Given the description of an element on the screen output the (x, y) to click on. 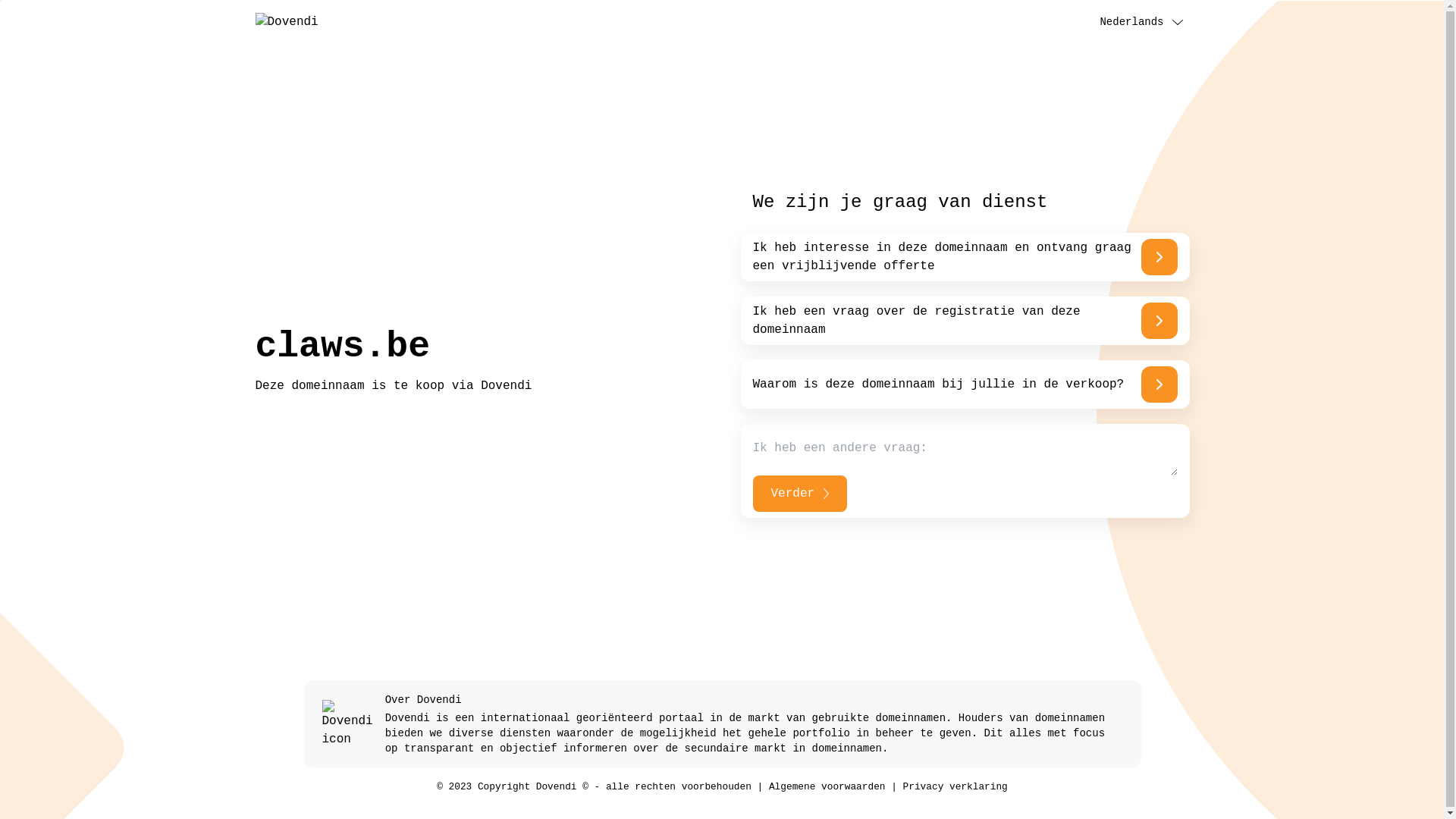
Algemene voorwaarden Element type: text (826, 786)
Privacy verklaring Element type: text (955, 786)
Verder Element type: text (799, 493)
